Given the description of an element on the screen output the (x, y) to click on. 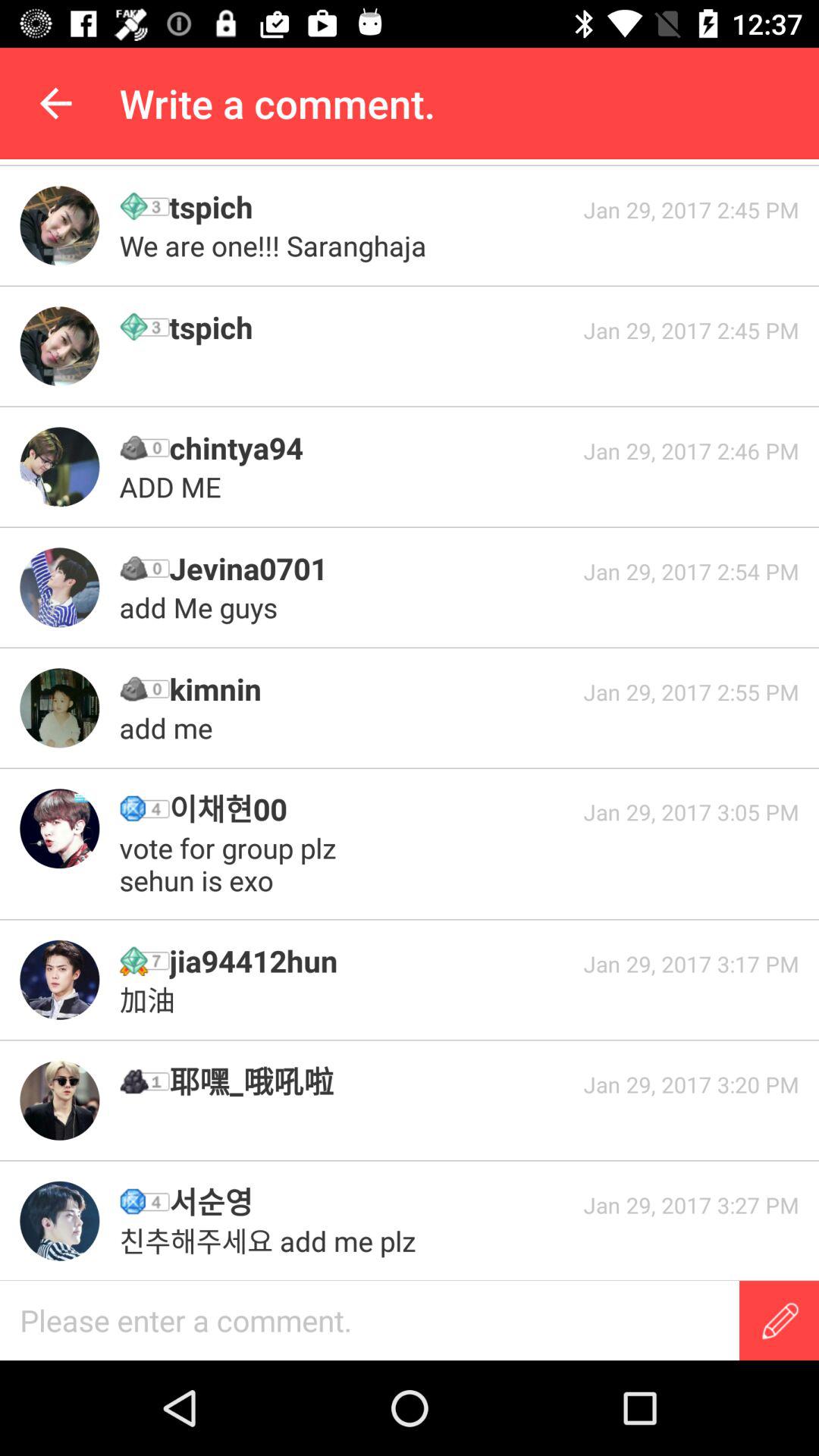
go to profile (59, 346)
